Given the description of an element on the screen output the (x, y) to click on. 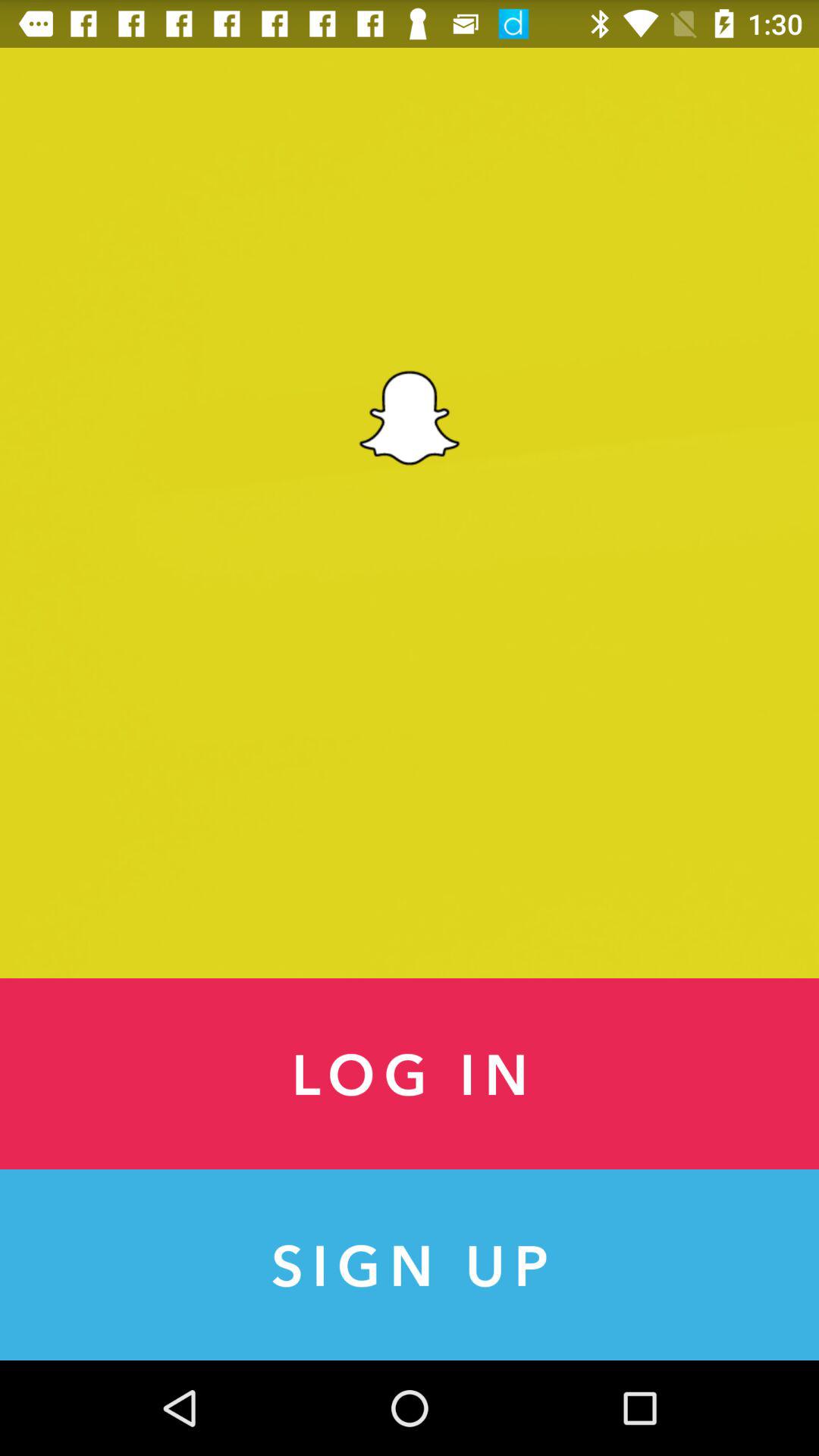
scroll to log in icon (409, 1073)
